Given the description of an element on the screen output the (x, y) to click on. 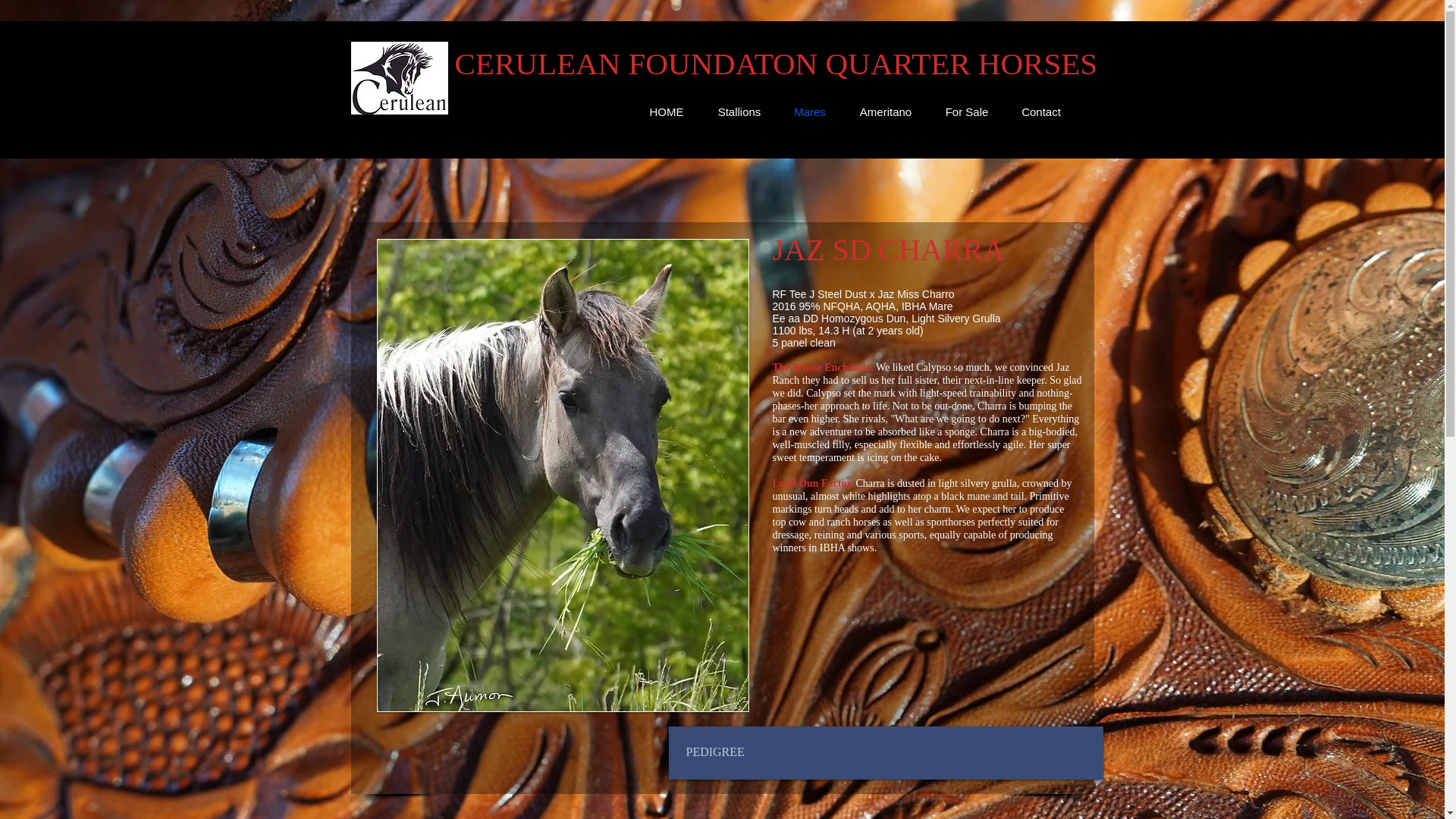
Stallions (738, 112)
HOME (666, 112)
Contact (1040, 112)
Mares (810, 112)
Ameritano (884, 112)
PEDIGREE (753, 752)
